Given the description of an element on the screen output the (x, y) to click on. 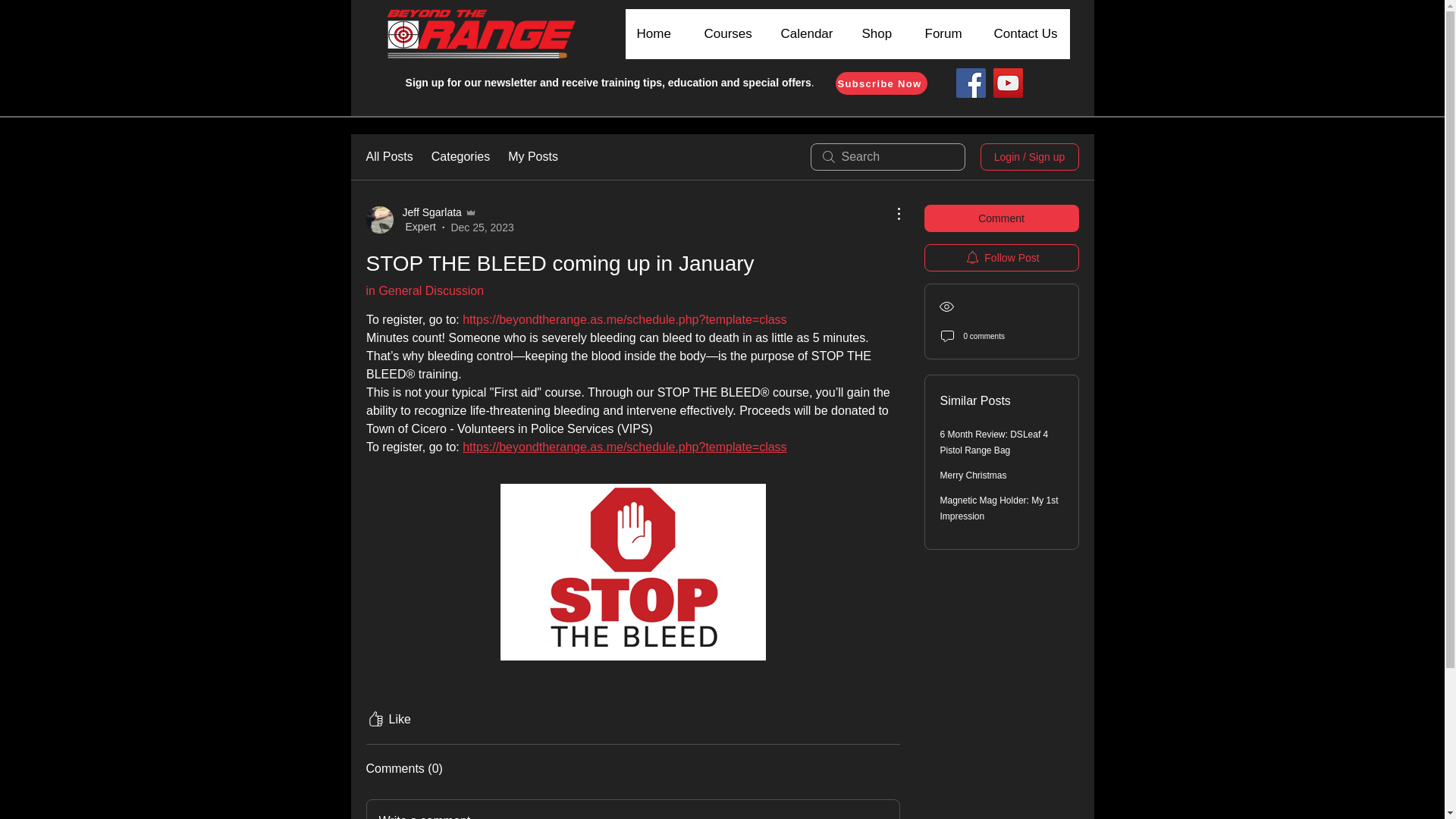
Merry Christmas (973, 475)
Write a comment... (632, 809)
Categories (459, 157)
My Posts (532, 157)
Forum (946, 33)
Magnetic Mag Holder: My 1st Impression (999, 508)
Shop (880, 33)
Contact Us (1024, 33)
Calendar (809, 33)
Follow Post (1000, 257)
